Given the description of an element on the screen output the (x, y) to click on. 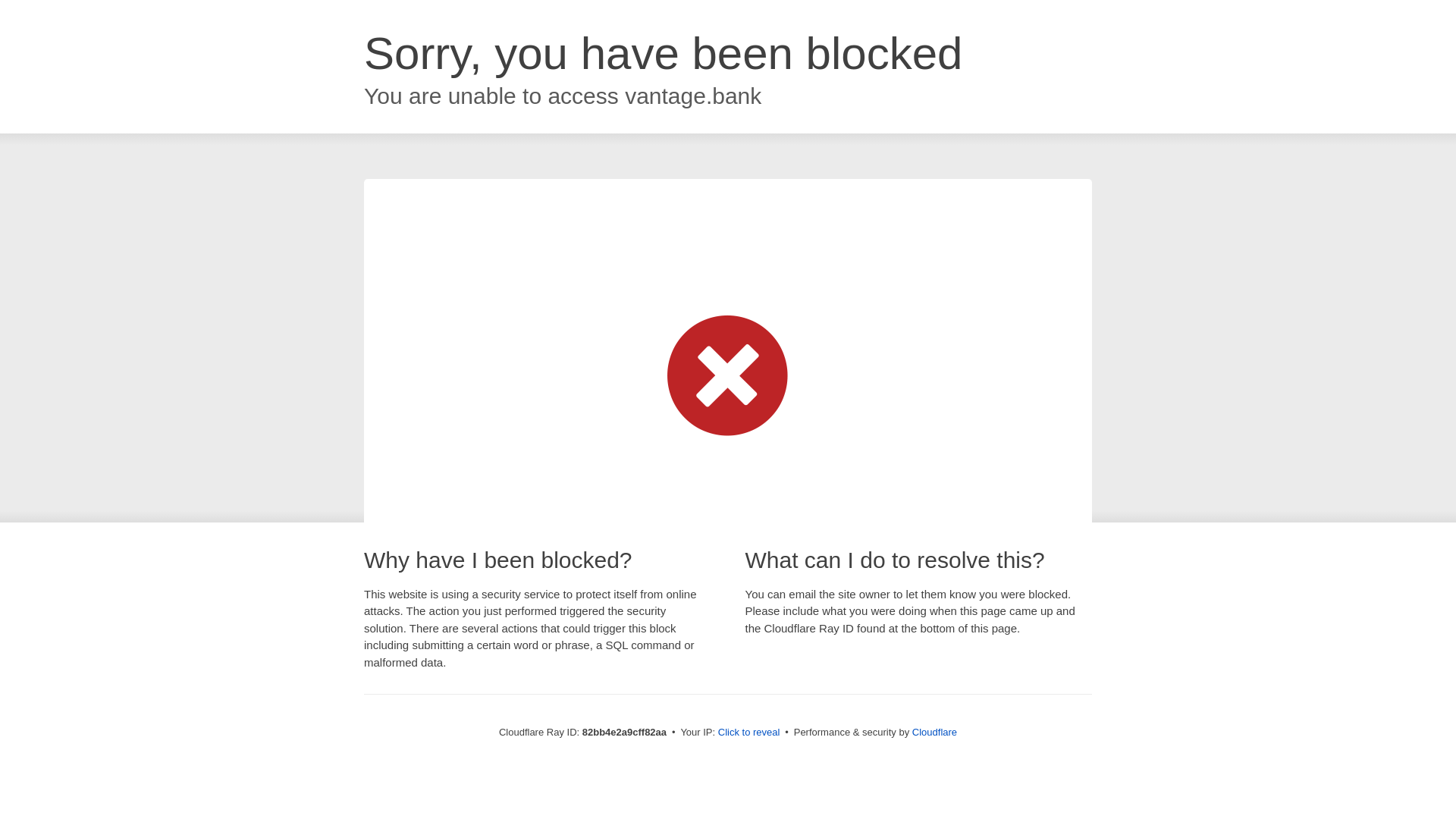
Cloudflare Element type: text (934, 731)
Click to reveal Element type: text (749, 732)
